Given the description of an element on the screen output the (x, y) to click on. 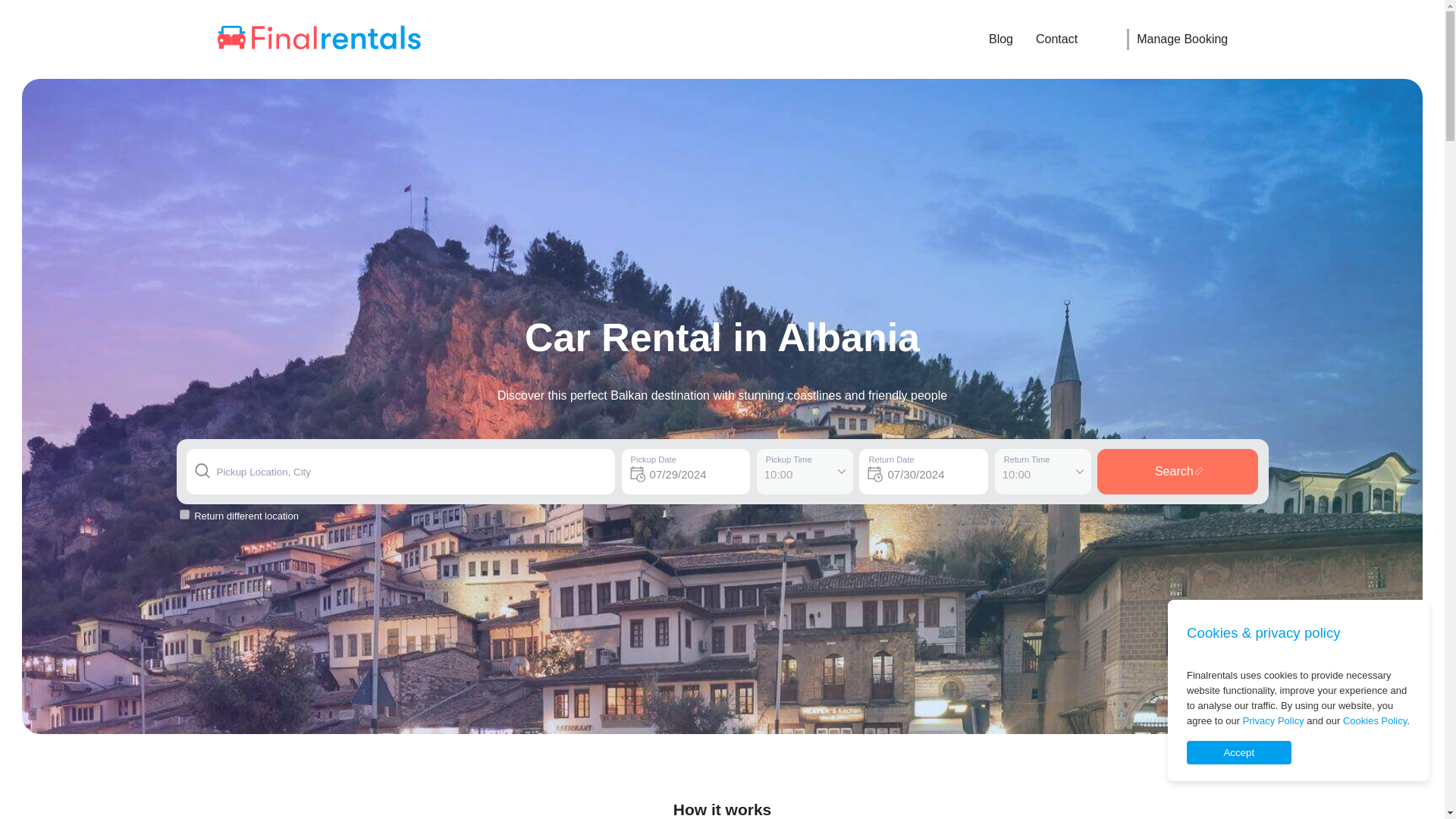
Cookies Policy (1374, 720)
Privacy Policy (1273, 720)
Manage Booking (1176, 38)
1 (184, 514)
Contact (1069, 38)
Accept (1238, 752)
Blog (1000, 38)
Search (1177, 471)
